Given the description of an element on the screen output the (x, y) to click on. 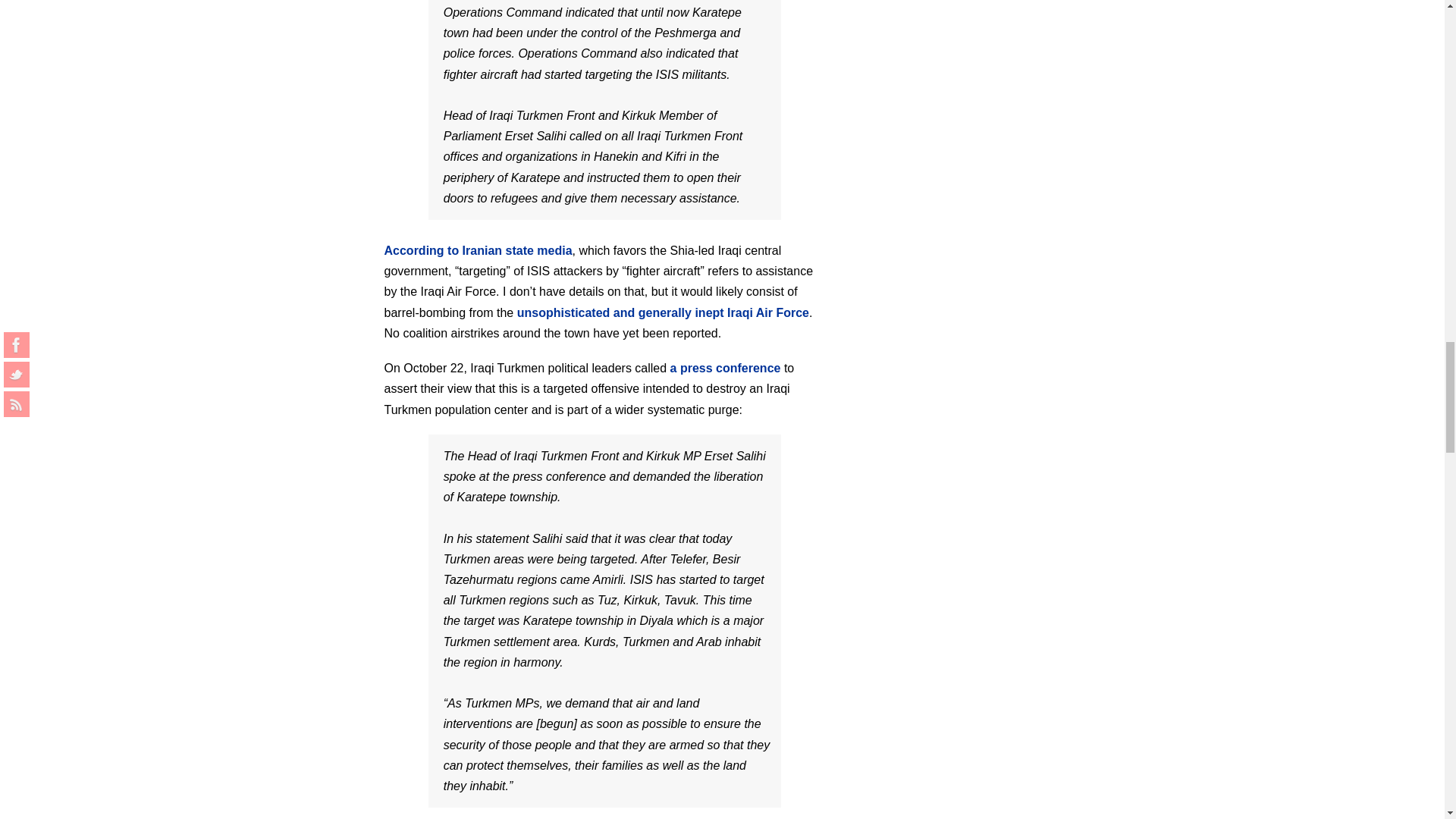
According to Iranian state media (478, 250)
a press conference (724, 367)
unsophisticated and generally inept Iraqi Air Force (662, 312)
